Given the description of an element on the screen output the (x, y) to click on. 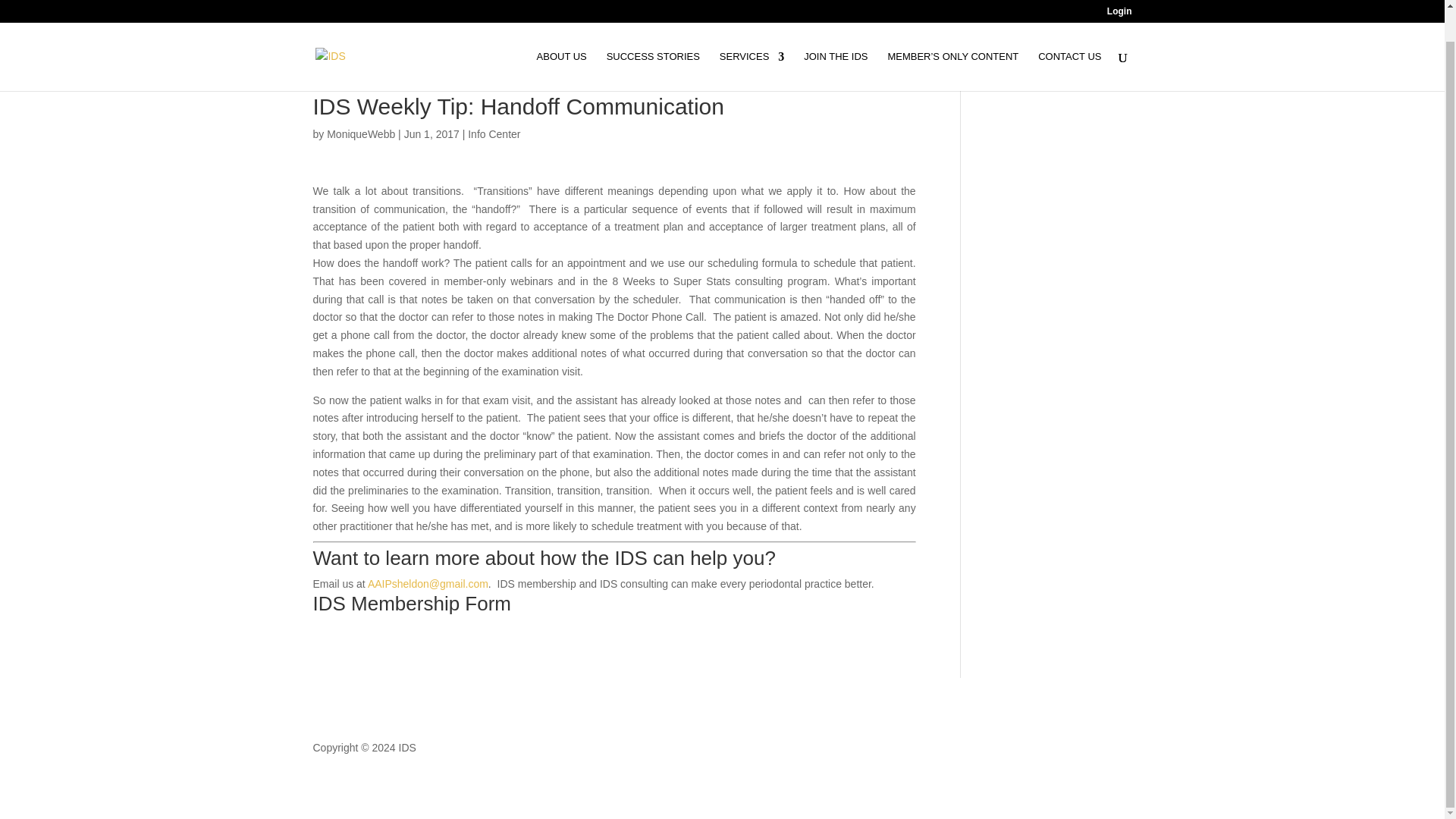
SERVICES (751, 38)
ABOUT US (561, 38)
Info Center (493, 133)
CONTACT US (1069, 38)
IDS Membership Form (412, 603)
JOIN THE IDS (835, 38)
SUCCESS STORIES (653, 38)
Posts by MoniqueWebb (360, 133)
MoniqueWebb (360, 133)
